Given the description of an element on the screen output the (x, y) to click on. 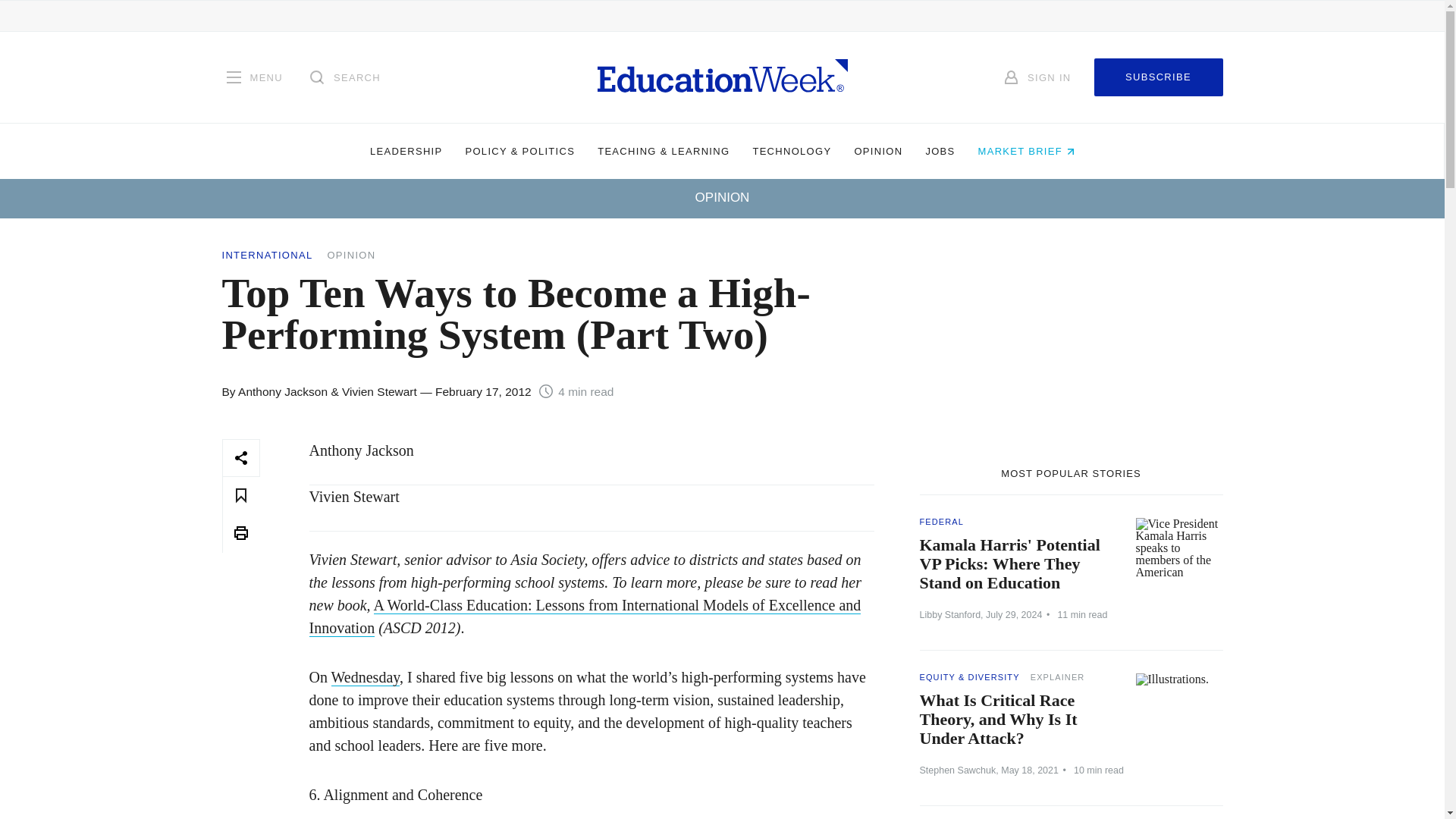
Homepage (721, 76)
